Given the description of an element on the screen output the (x, y) to click on. 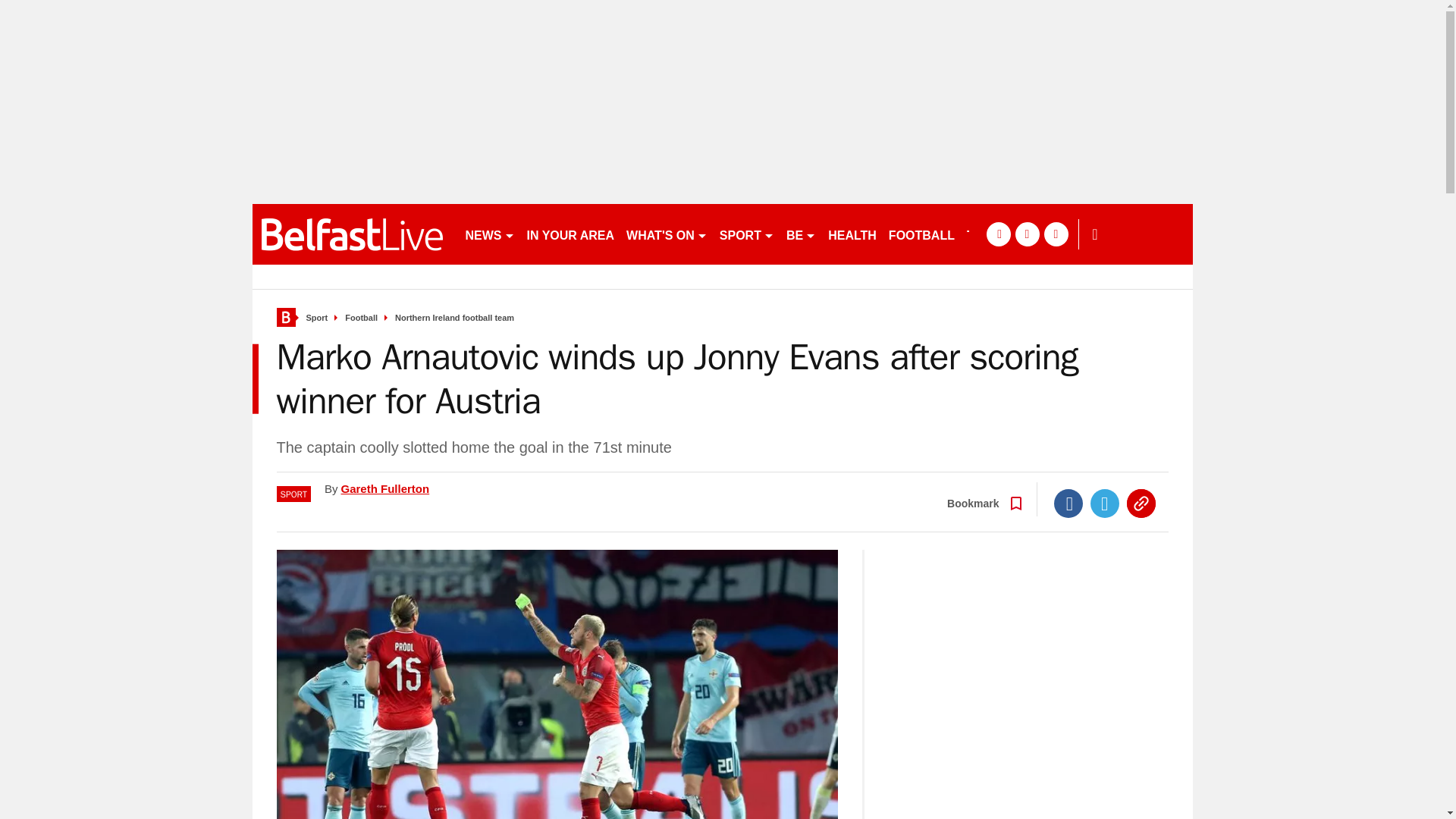
facebook (997, 233)
belfastlive (351, 233)
Twitter (1104, 502)
SPORT (746, 233)
NEWS (490, 233)
Facebook (1068, 502)
IN YOUR AREA (569, 233)
WHAT'S ON (666, 233)
instagram (1055, 233)
twitter (1026, 233)
